Given the description of an element on the screen output the (x, y) to click on. 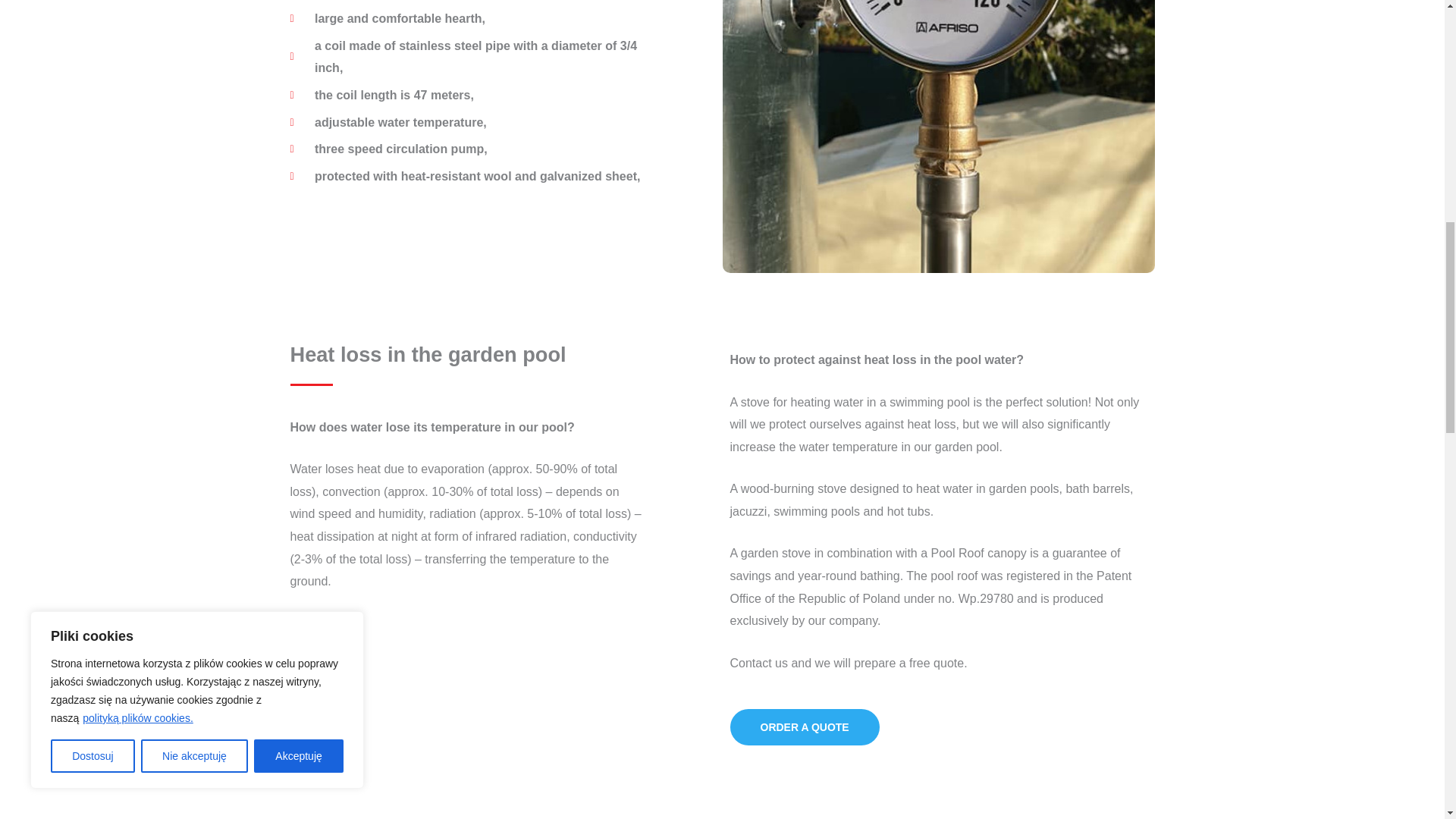
ORDER A QUOTE (804, 727)
